Given the description of an element on the screen output the (x, y) to click on. 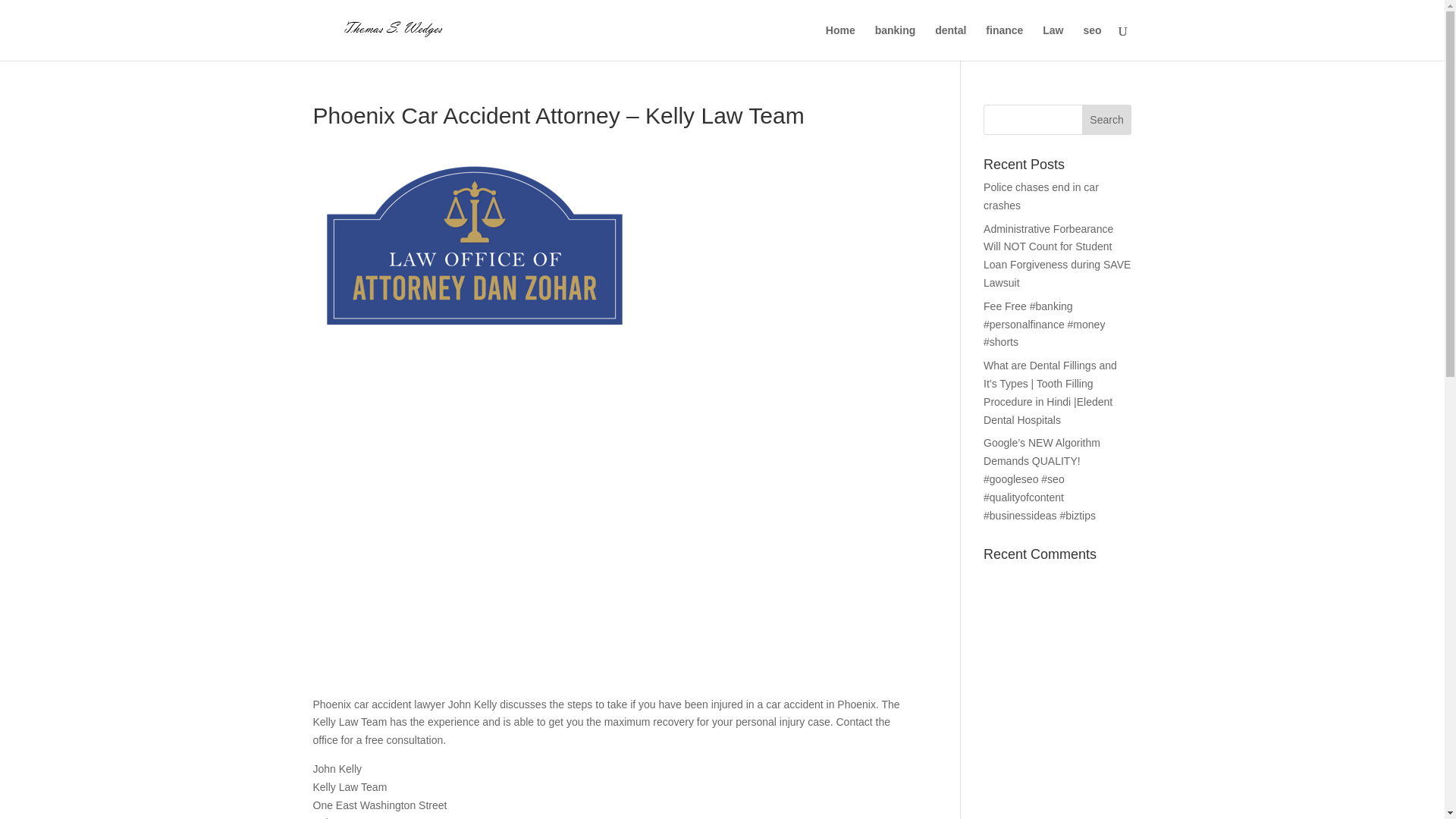
finance (1004, 42)
Police chases end in car crashes (1041, 195)
banking (895, 42)
Search (1106, 119)
Search (1106, 119)
